Given the description of an element on the screen output the (x, y) to click on. 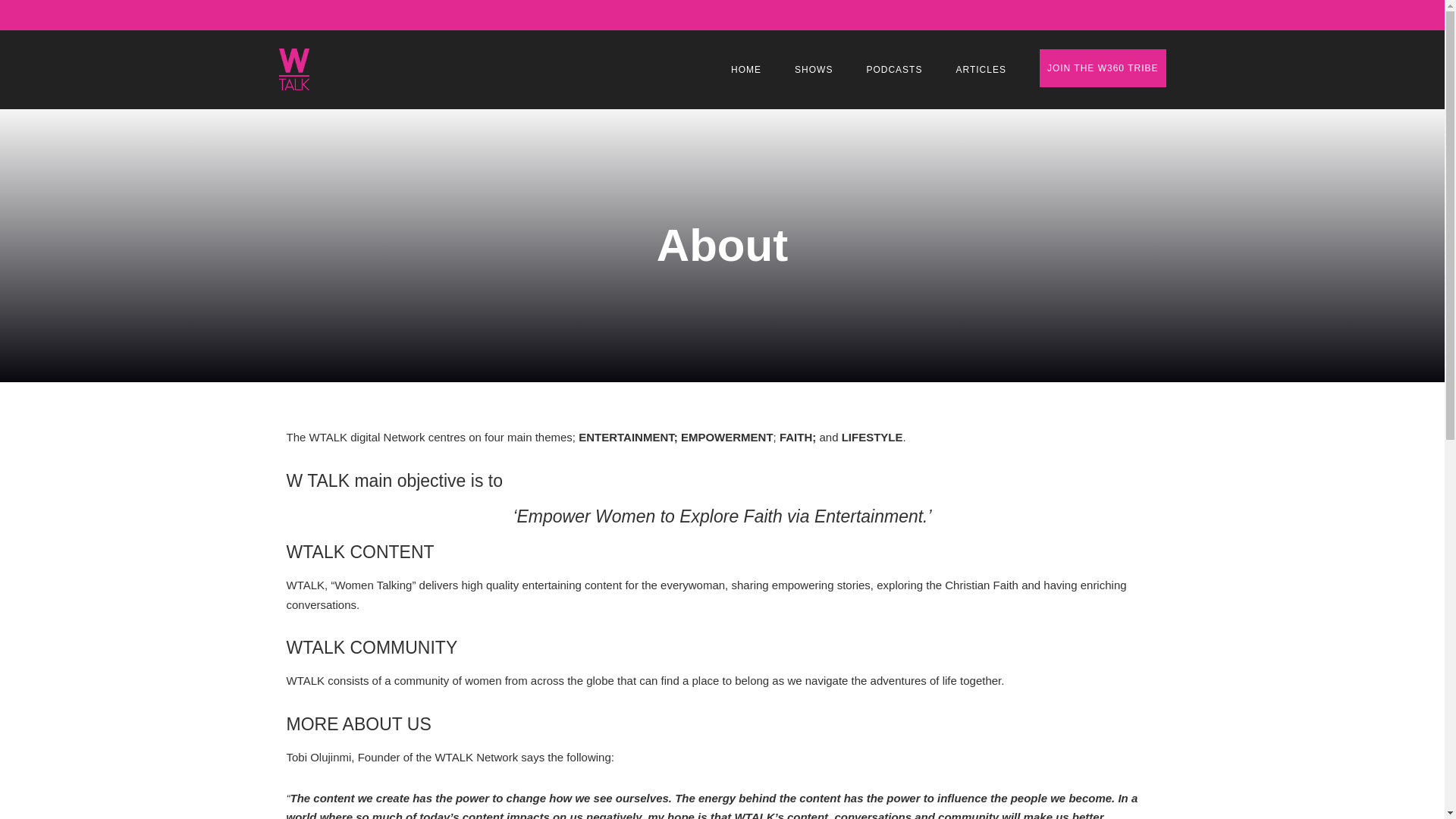
JOIN THE W360 TRIBE (1102, 67)
SHOWS (812, 69)
PODCASTS (893, 69)
Search Videos (676, 303)
ARTICLES (980, 69)
